Given the description of an element on the screen output the (x, y) to click on. 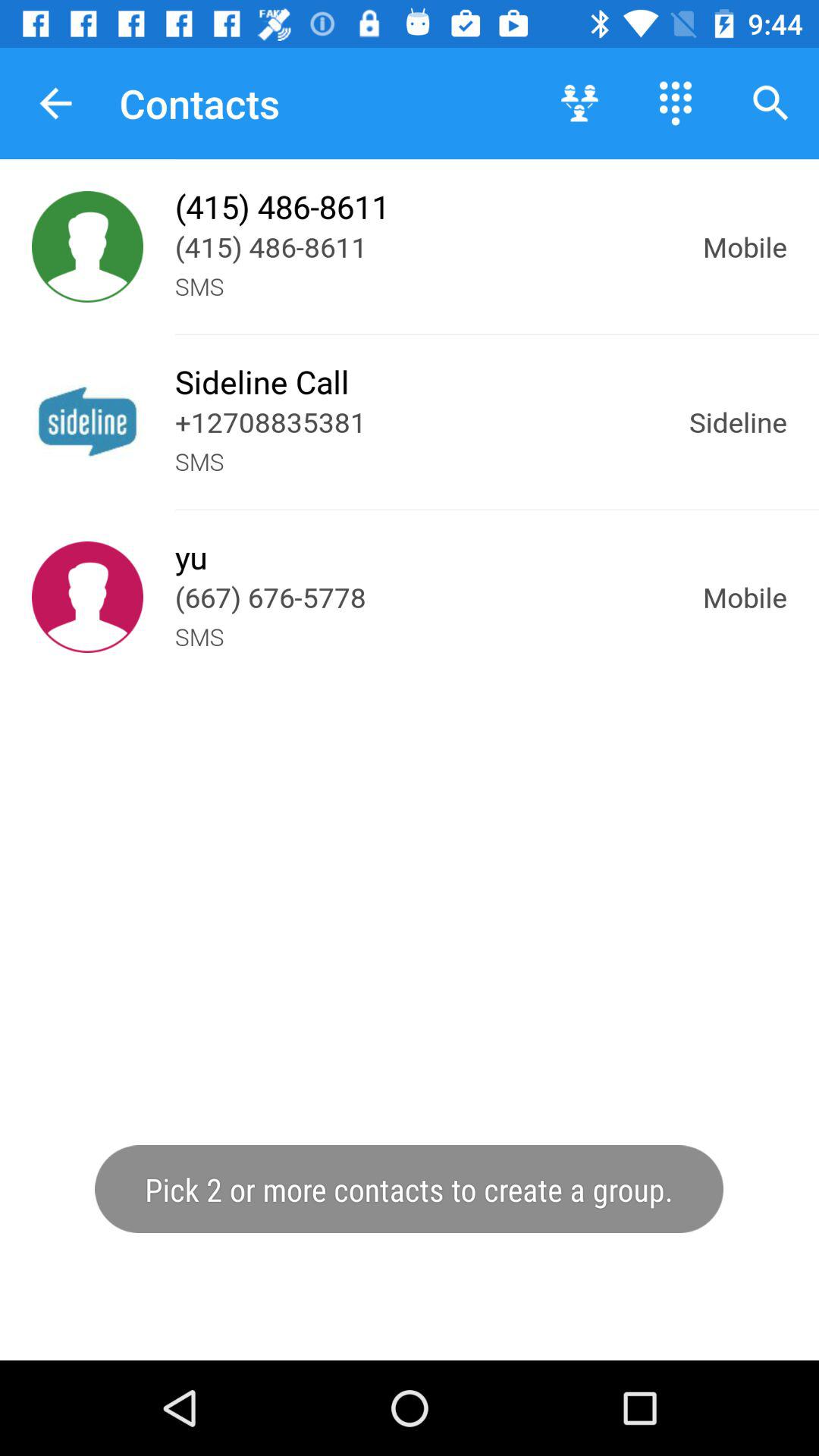
profile picture (87, 596)
